Given the description of an element on the screen output the (x, y) to click on. 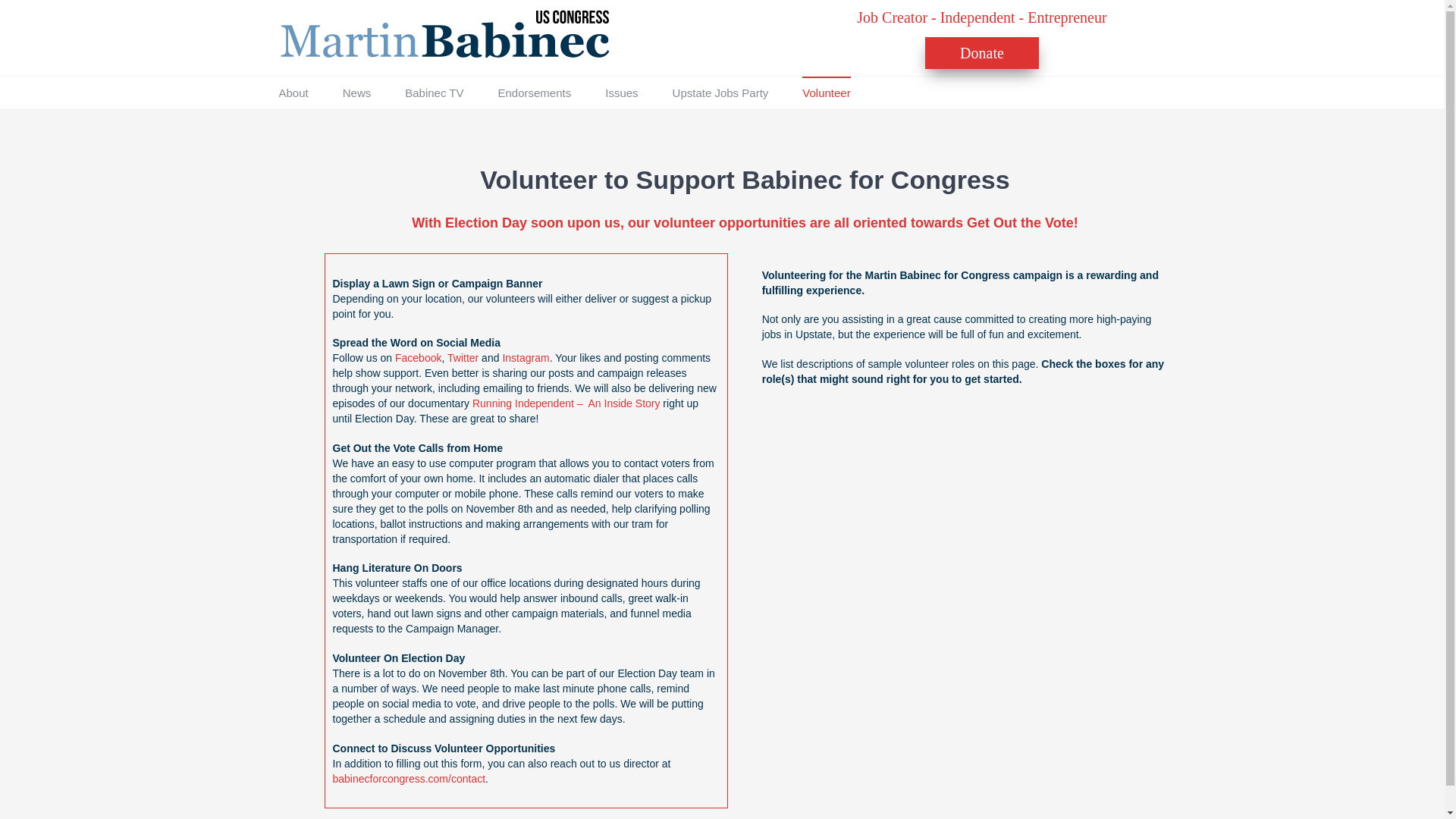
Issues (621, 92)
About (293, 92)
Twitter (462, 357)
Babinec TV (433, 92)
Upstate Jobs Party (720, 92)
News (356, 92)
Instagram (525, 357)
Facebook (417, 357)
Donate (981, 53)
Volunteer (826, 92)
Endorsements (533, 92)
